Given the description of an element on the screen output the (x, y) to click on. 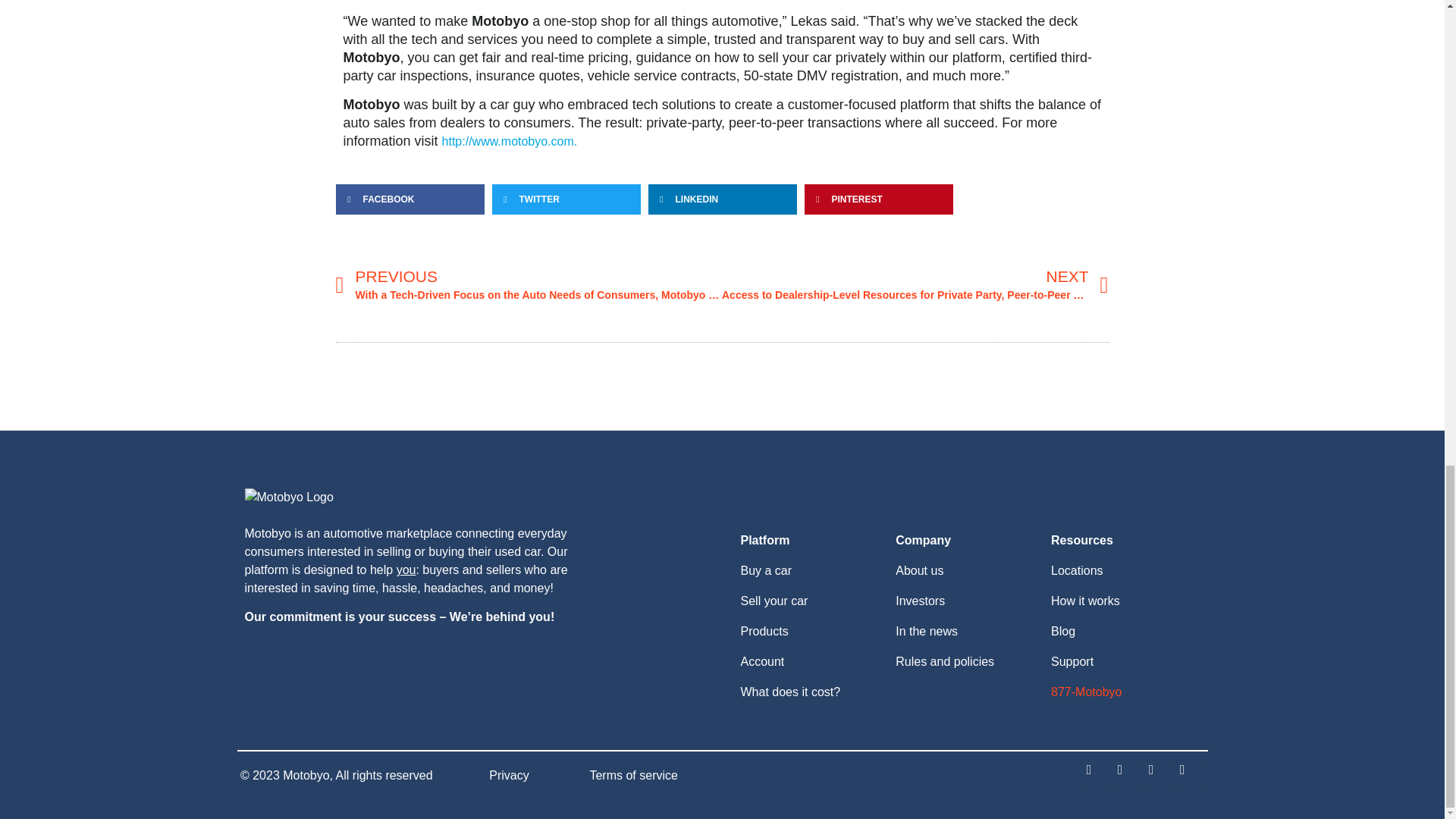
In the news (926, 631)
Company (922, 540)
Products (763, 631)
Investors (919, 600)
Account (761, 661)
How it works (1085, 600)
Resources (1082, 540)
motobyo-white-logo (288, 497)
